Given the description of an element on the screen output the (x, y) to click on. 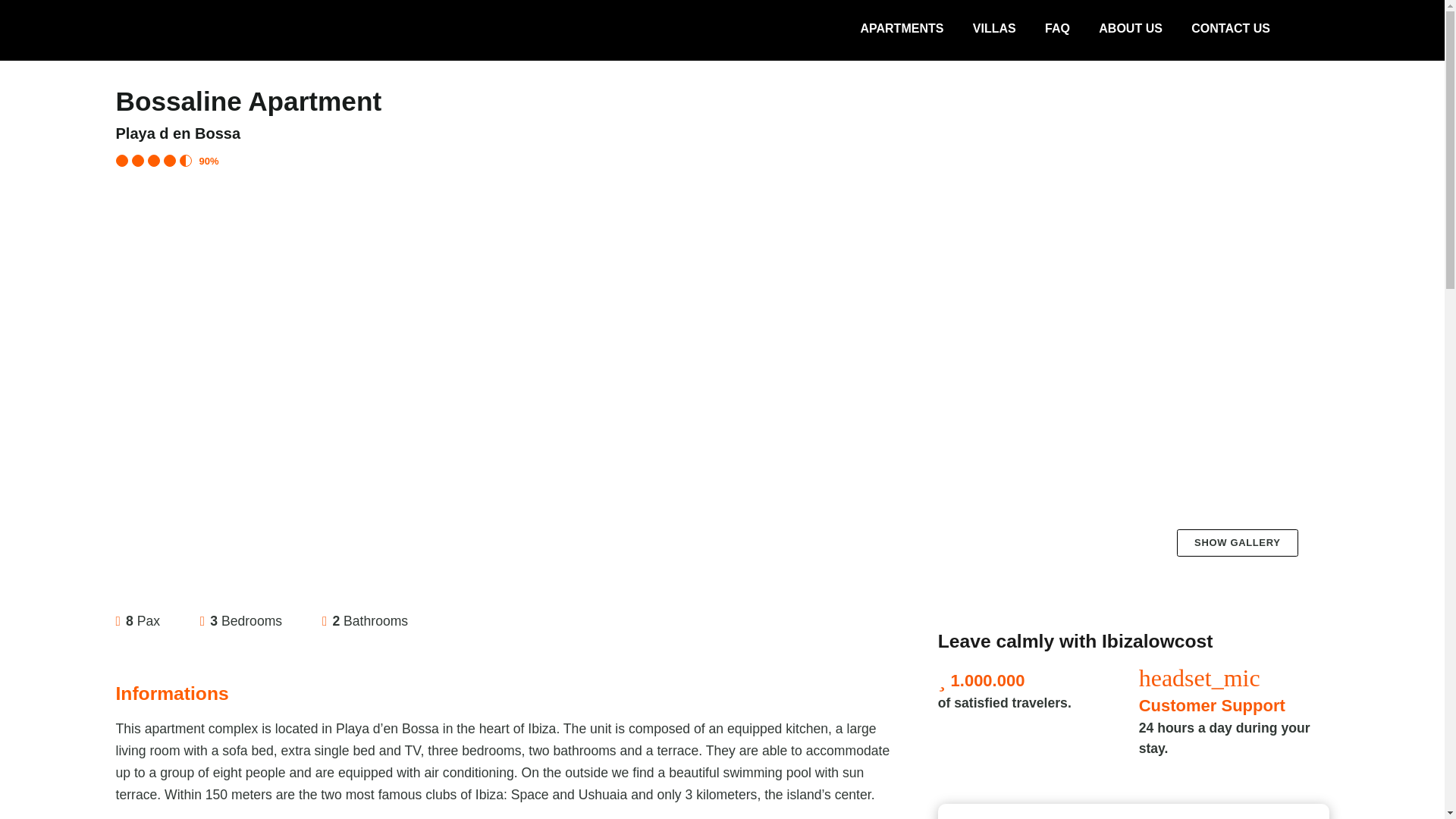
CONTACT US (1230, 29)
FAQ (1057, 29)
VILLAS (994, 29)
ABOUT US (1130, 29)
SHOW GALLERY (1237, 542)
APARTMENTS (901, 29)
